Given the description of an element on the screen output the (x, y) to click on. 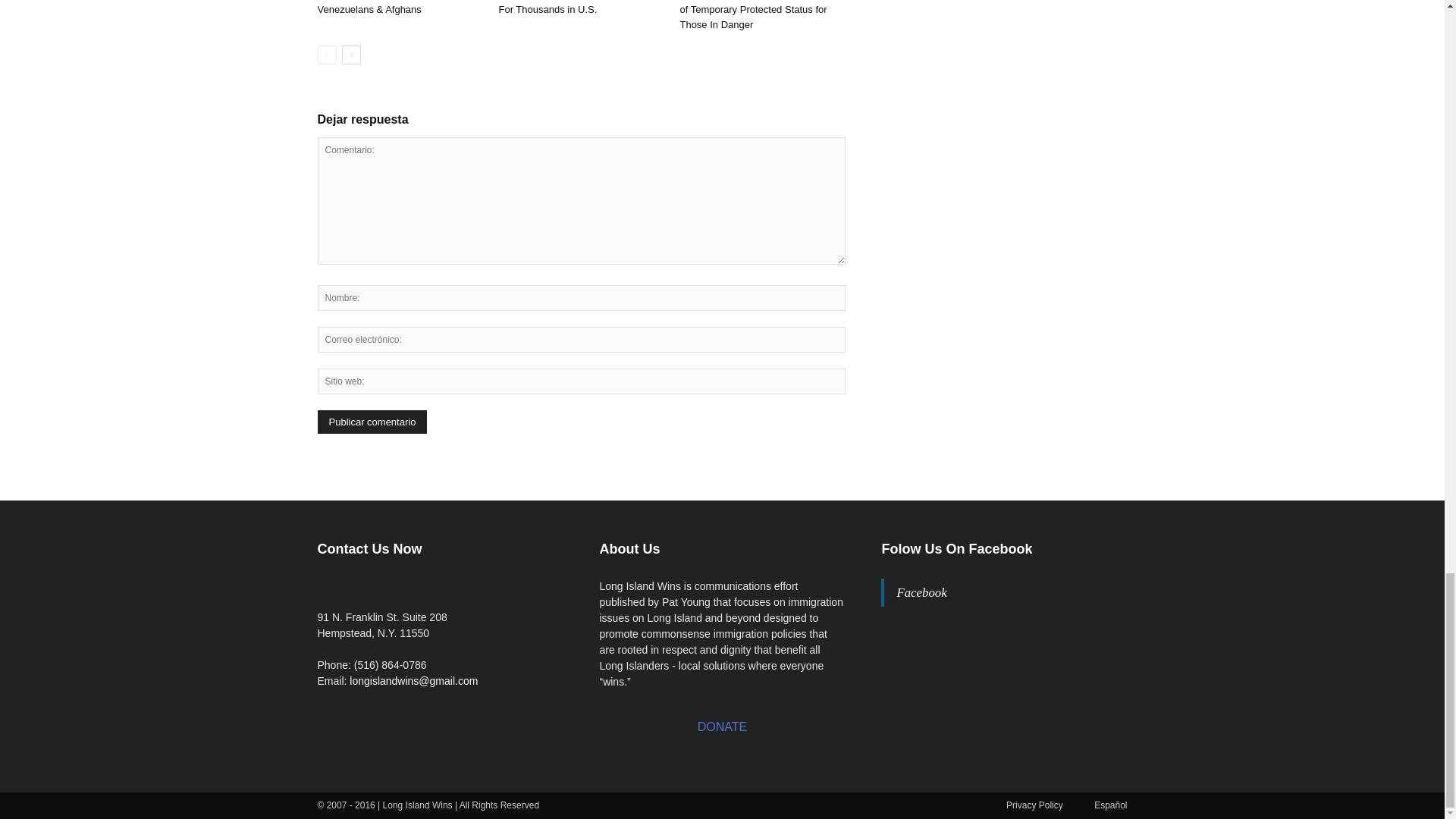
Publicar comentario (371, 422)
